Given the description of an element on the screen output the (x, y) to click on. 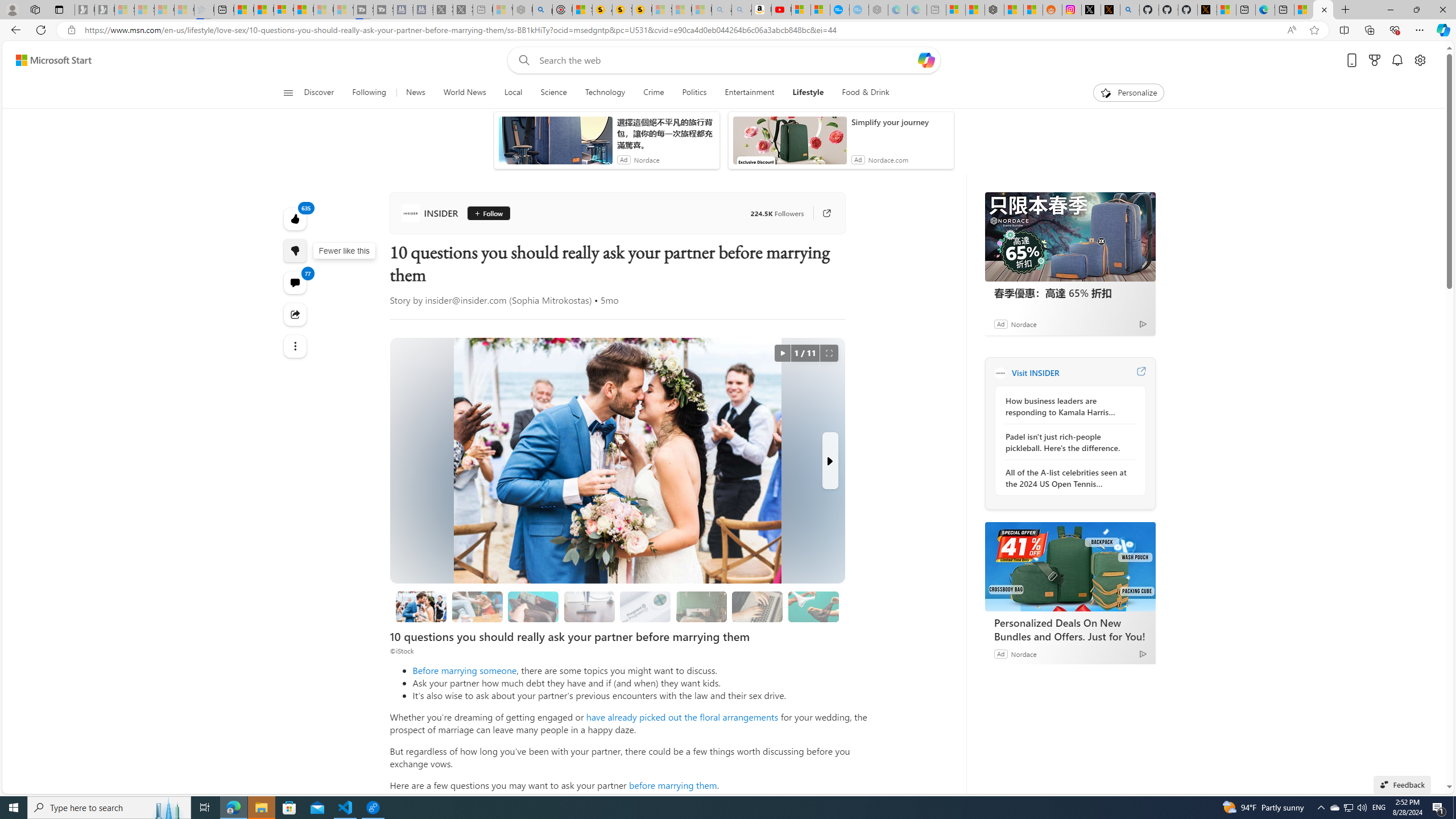
Class: progress (813, 604)
World News (464, 92)
Copilot (Ctrl+Shift+.) (1442, 29)
Microsoft account | Microsoft Account Privacy Settings (954, 9)
Local (512, 92)
The most popular Google 'how to' searches - Sleeping (858, 9)
Before marrying someone (464, 670)
Ad (999, 653)
Streaming Coverage | T3 - Sleeping (362, 9)
How important is sex to you? (812, 606)
Do you want kids? If so, when? (645, 606)
Nordace.com (887, 159)
